Given the description of an element on the screen output the (x, y) to click on. 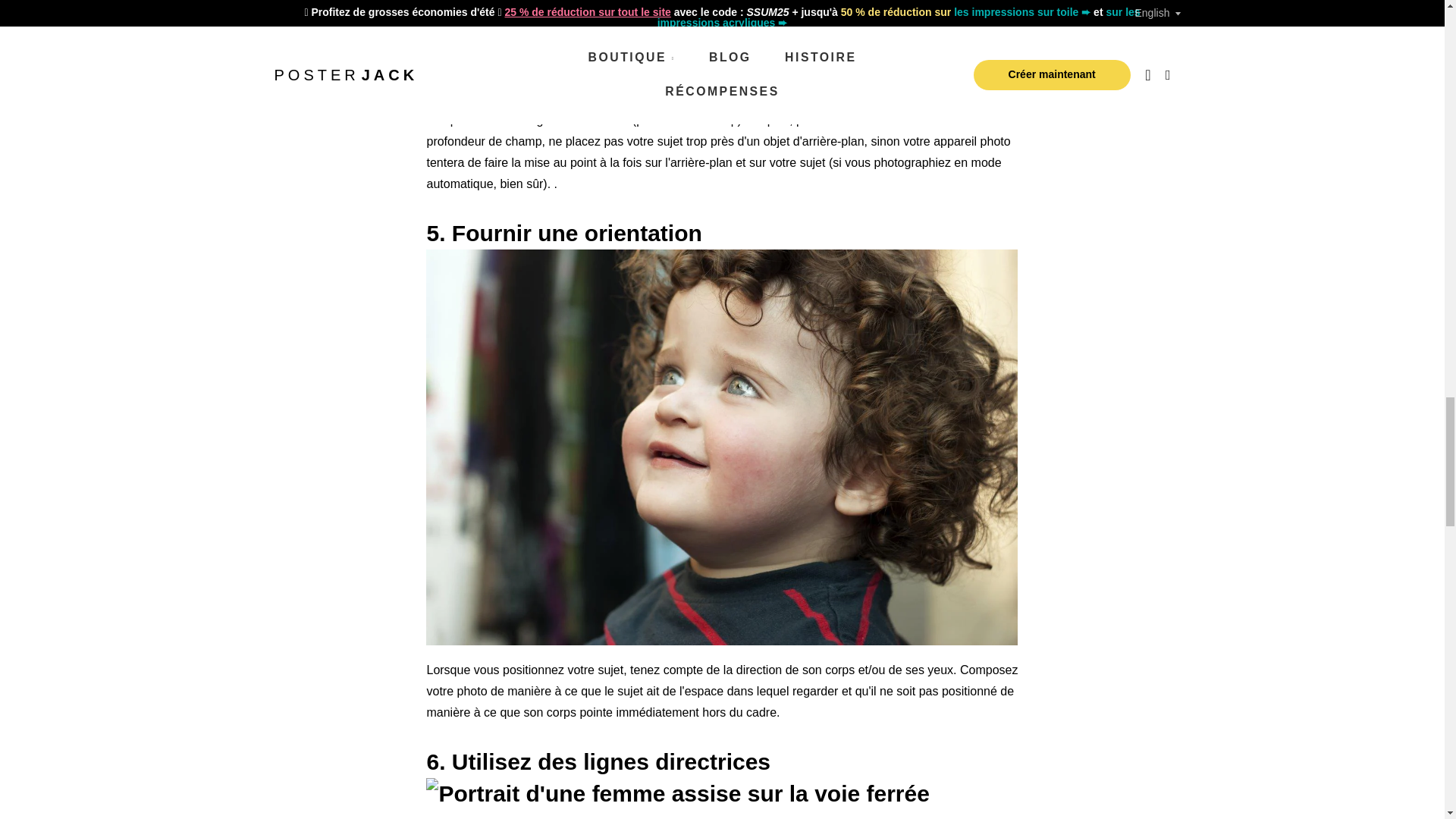
Comprendre la profondeur de champ en photographie (882, 98)
